Given the description of an element on the screen output the (x, y) to click on. 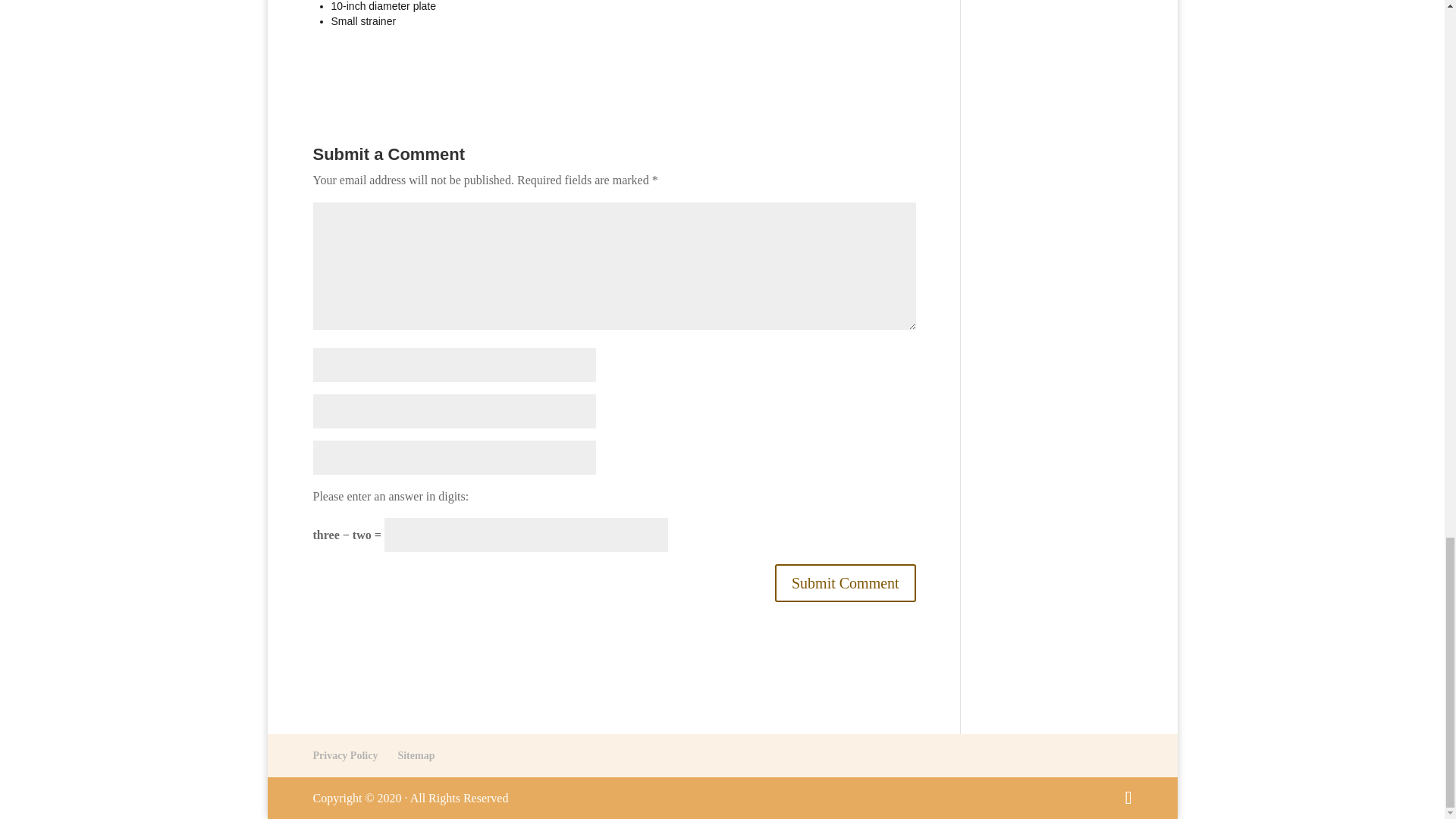
Submit Comment (844, 582)
